Given the description of an element on the screen output the (x, y) to click on. 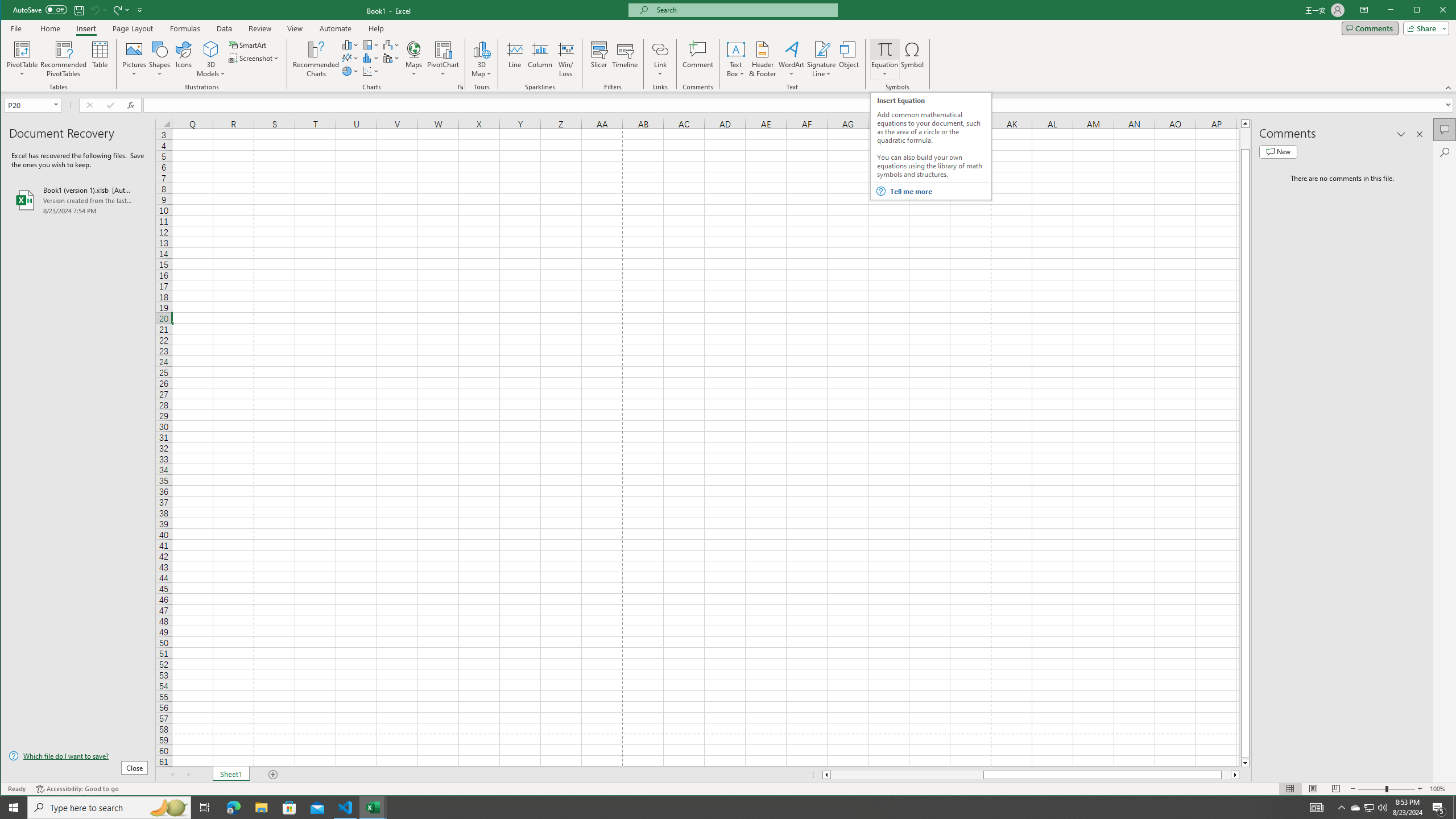
3D Map (481, 59)
3D Models (211, 59)
Page left (906, 774)
PivotTable (22, 59)
Search (1444, 151)
Win/Loss (565, 59)
Header & Footer... (762, 59)
